Given the description of an element on the screen output the (x, y) to click on. 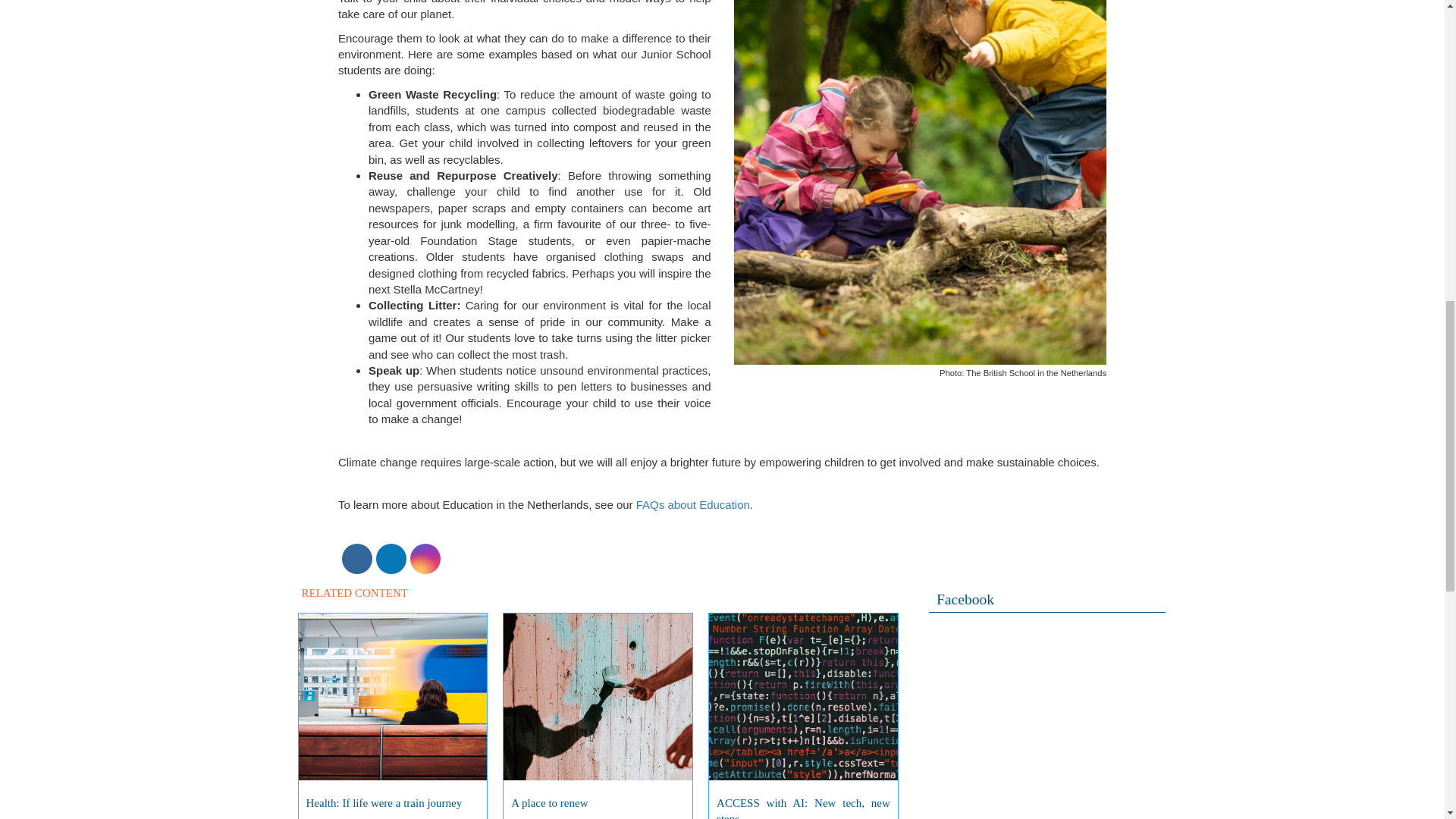
FAQs about Education (692, 504)
Facebook (357, 558)
Instagram (424, 558)
LinkedIn (390, 558)
